Given the description of an element on the screen output the (x, y) to click on. 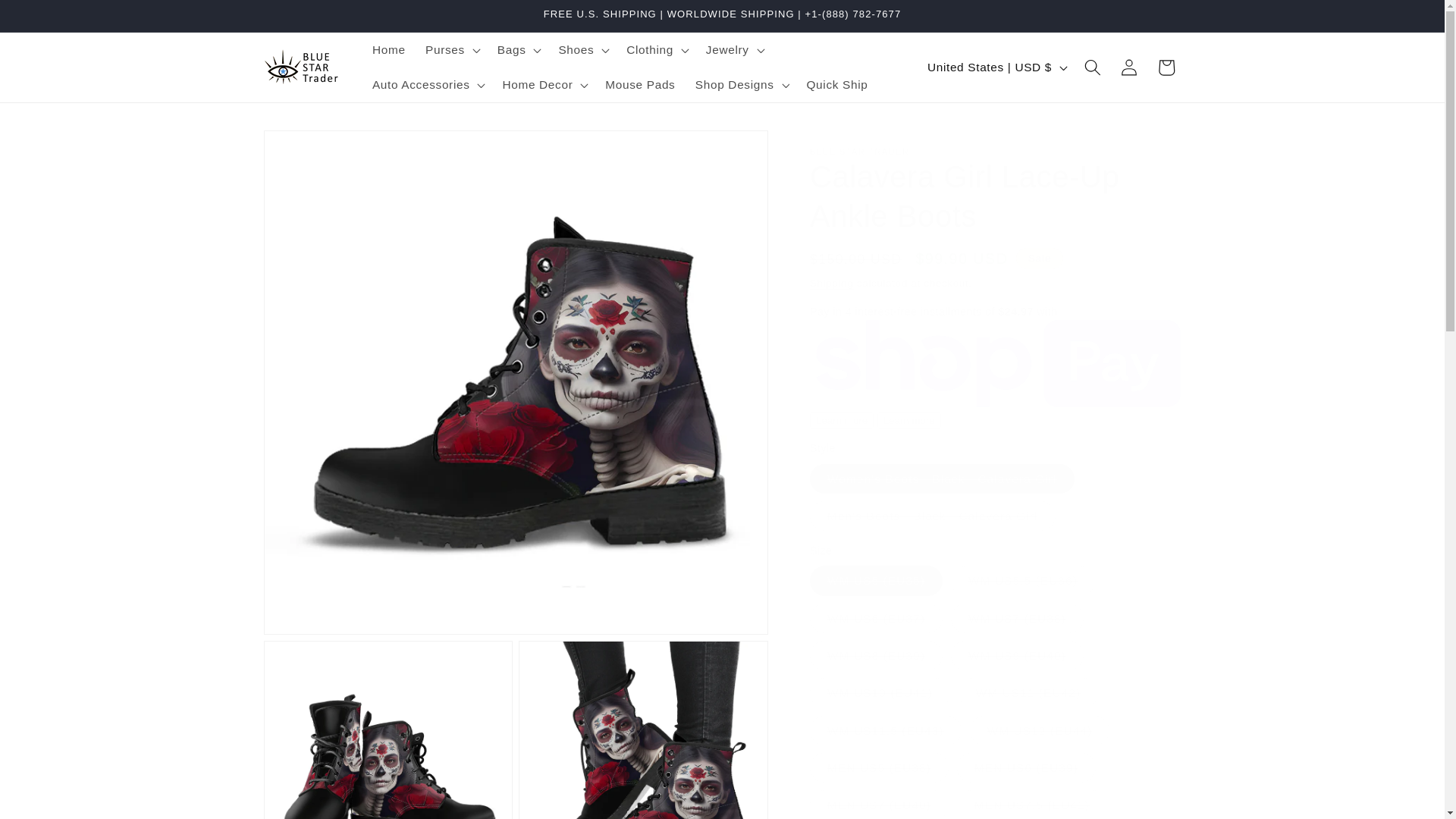
Open media 2 in modal (388, 729)
Open media 3 in modal (643, 729)
Skip to content (50, 19)
